Given the description of an element on the screen output the (x, y) to click on. 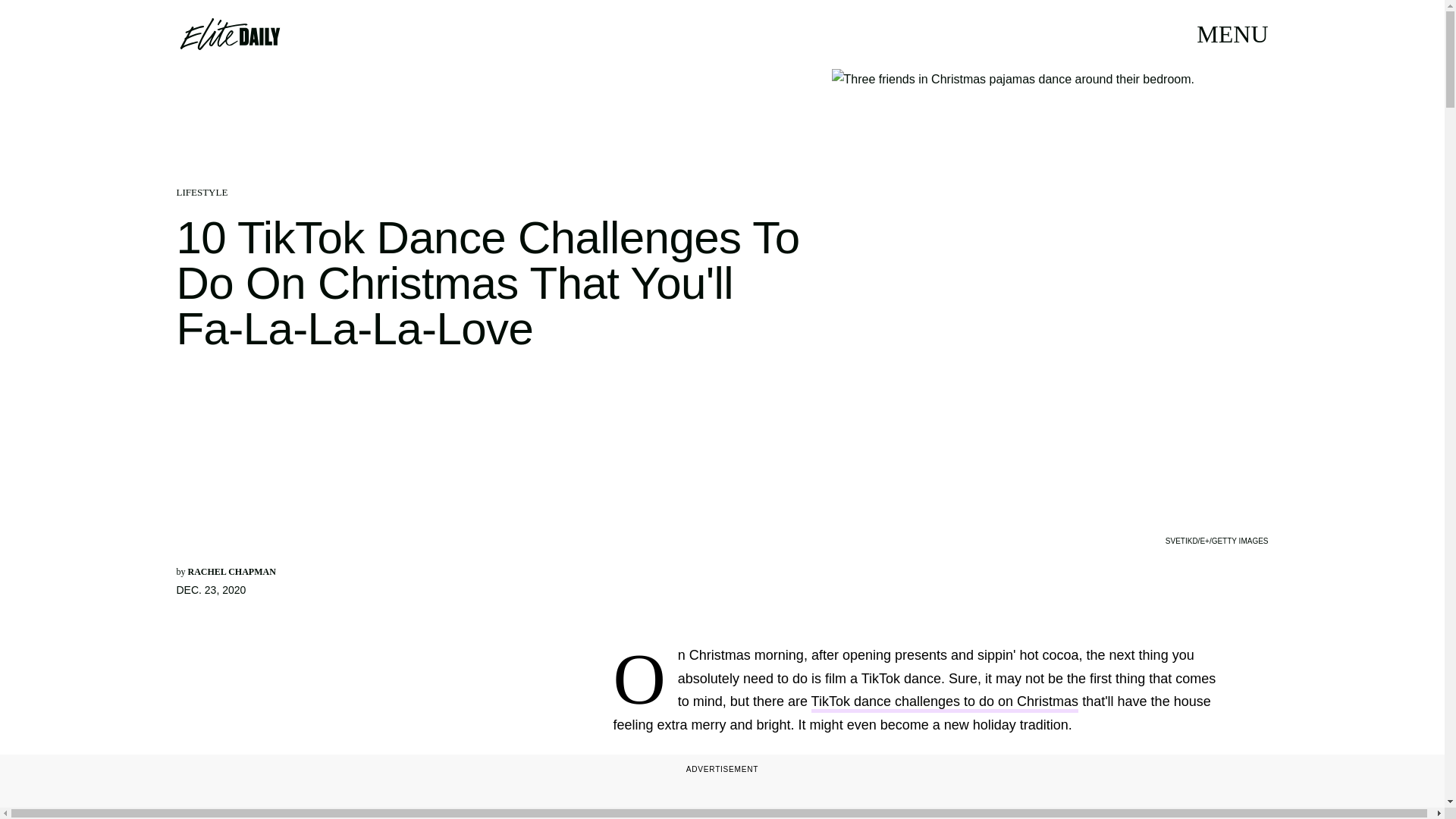
RACHEL CHAPMAN (231, 571)
TikTok dance challenges to do on Christmas (944, 702)
Elite Daily (229, 33)
